Given the description of an element on the screen output the (x, y) to click on. 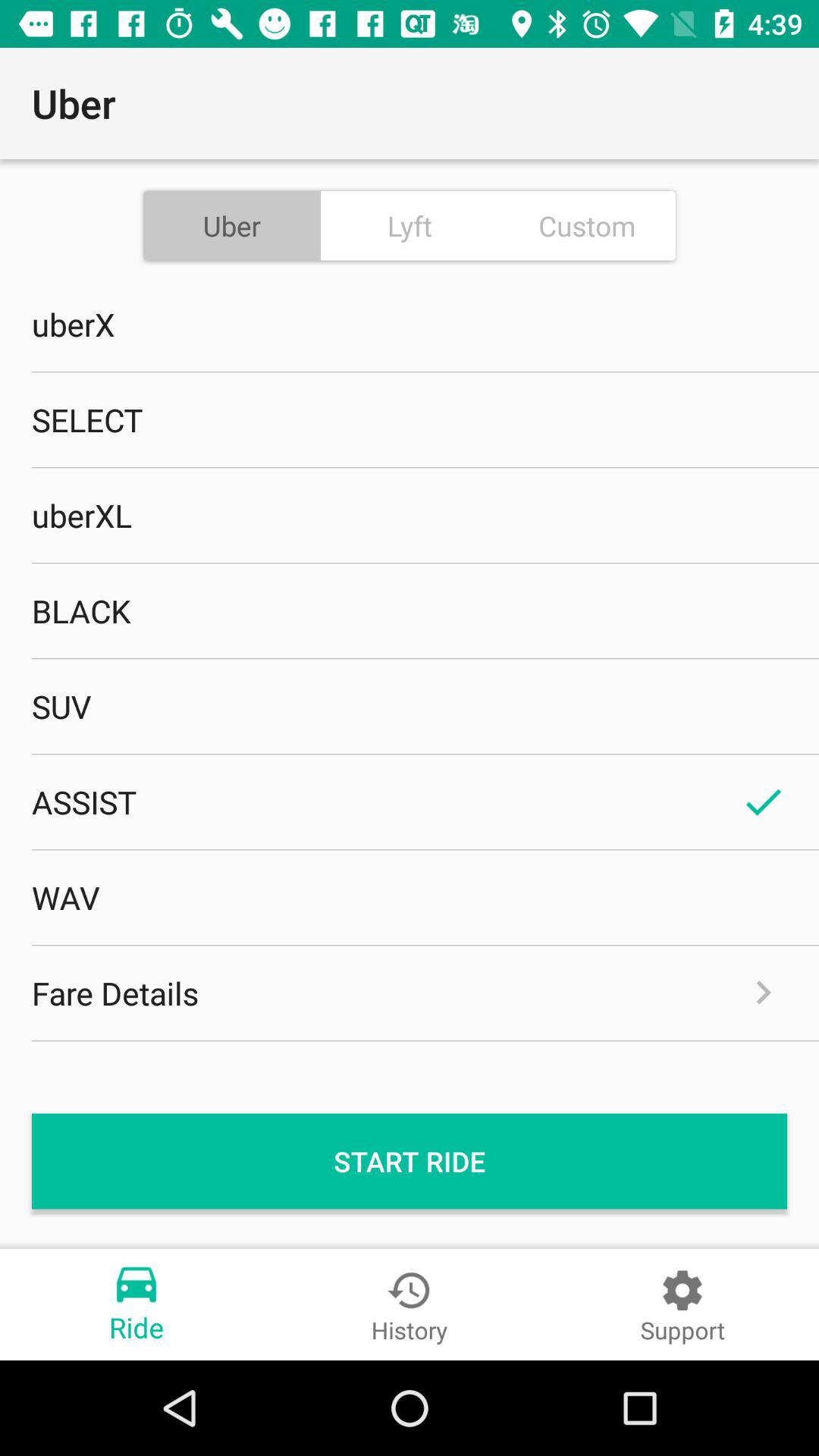
tap the uberxl (409, 515)
